Given the description of an element on the screen output the (x, y) to click on. 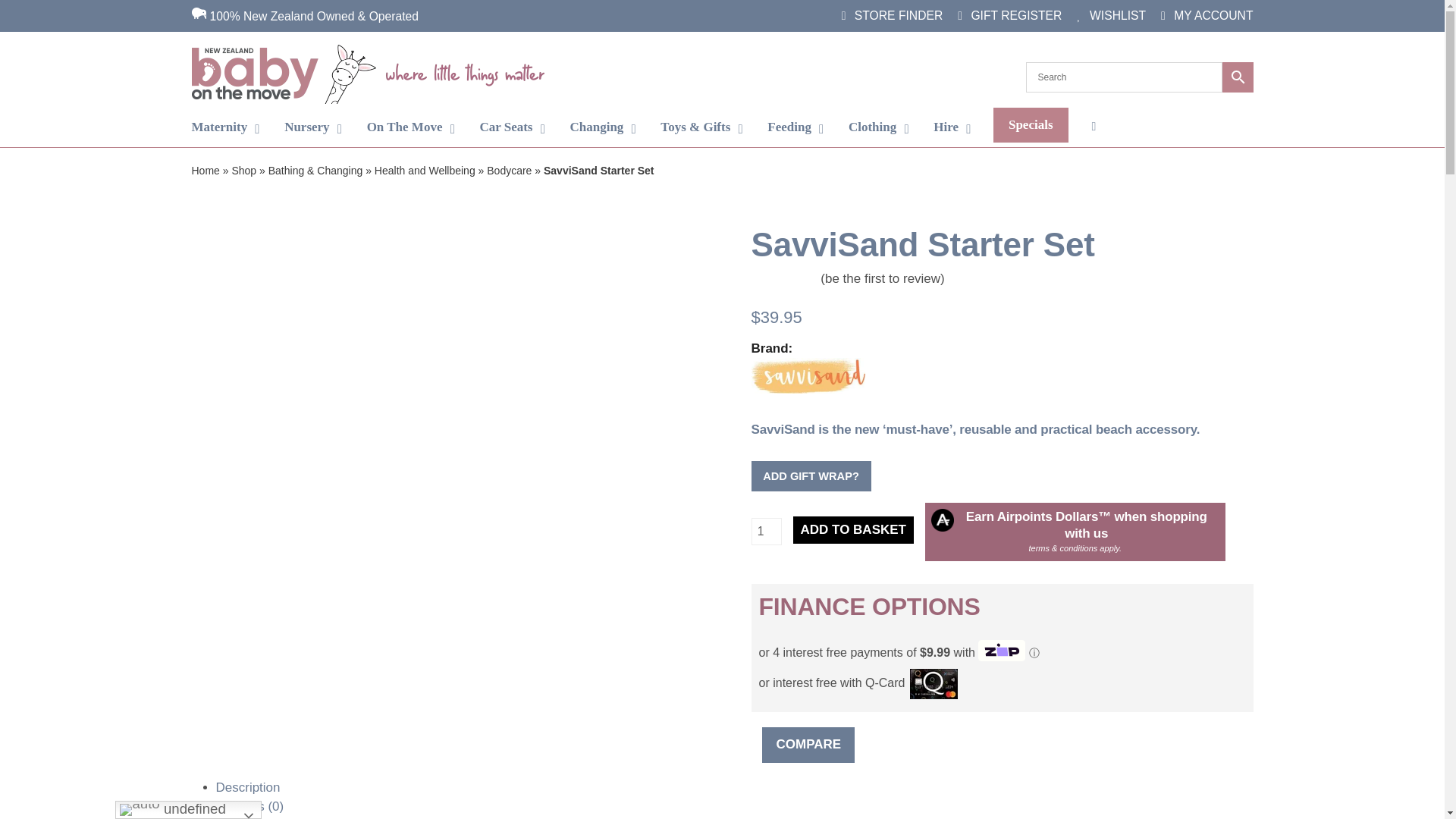
STORE FINDER (892, 15)
MY ACCOUNT (1206, 15)
WISHLIST (1111, 15)
1 (765, 531)
Nursery (312, 127)
GIFT REGISTER (1009, 15)
Savvisand (807, 377)
Maternity (225, 127)
